Given the description of an element on the screen output the (x, y) to click on. 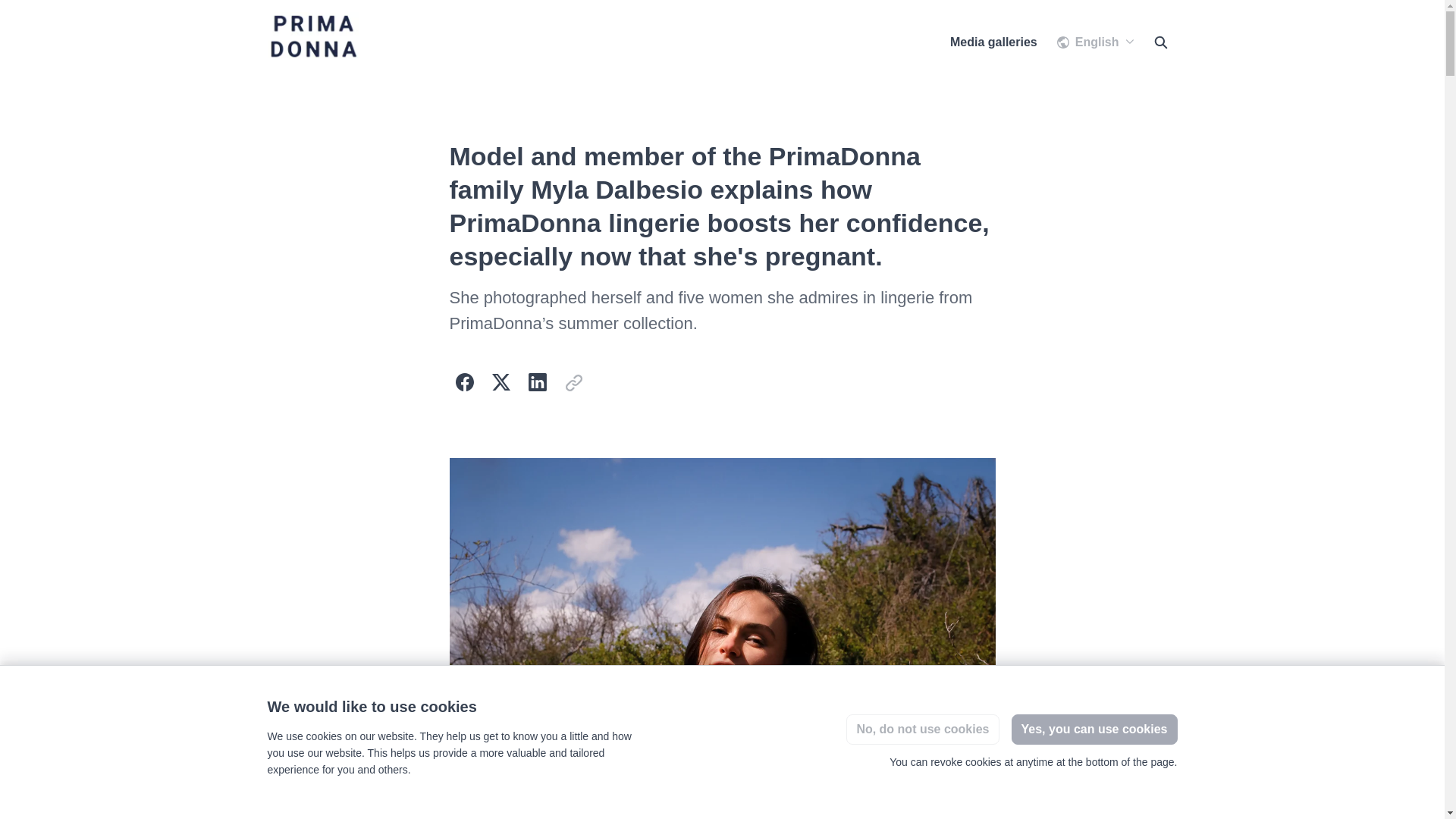
English (1095, 42)
Search (1159, 42)
PRIMADONNA (357, 42)
Copy URL (572, 381)
Media galleries (993, 42)
